Given the description of an element on the screen output the (x, y) to click on. 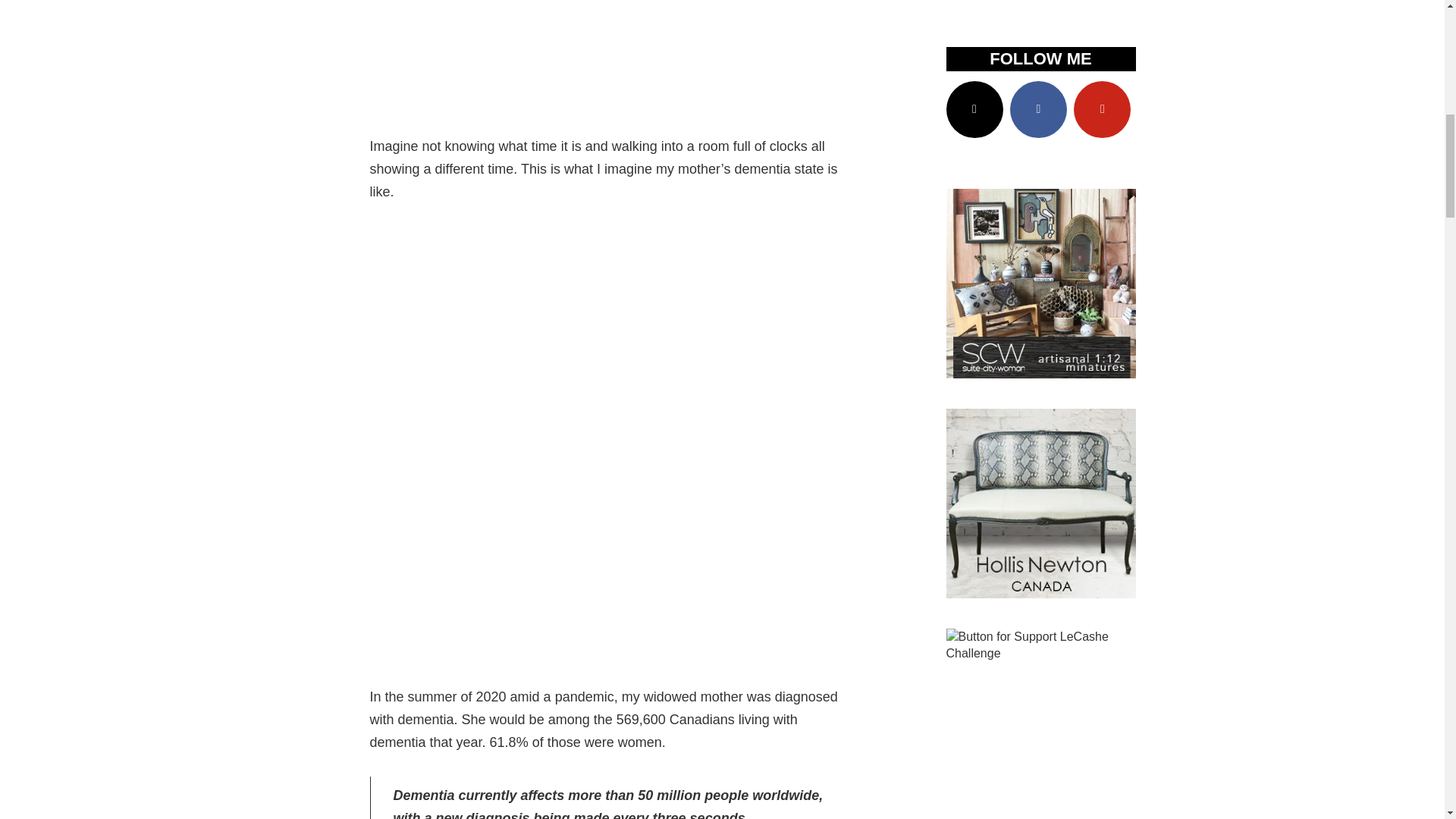
Pinterest (1102, 109)
pinterest (1102, 109)
instagram (974, 109)
facebook (1038, 109)
Facebook (1038, 109)
Instagram (974, 109)
